Given the description of an element on the screen output the (x, y) to click on. 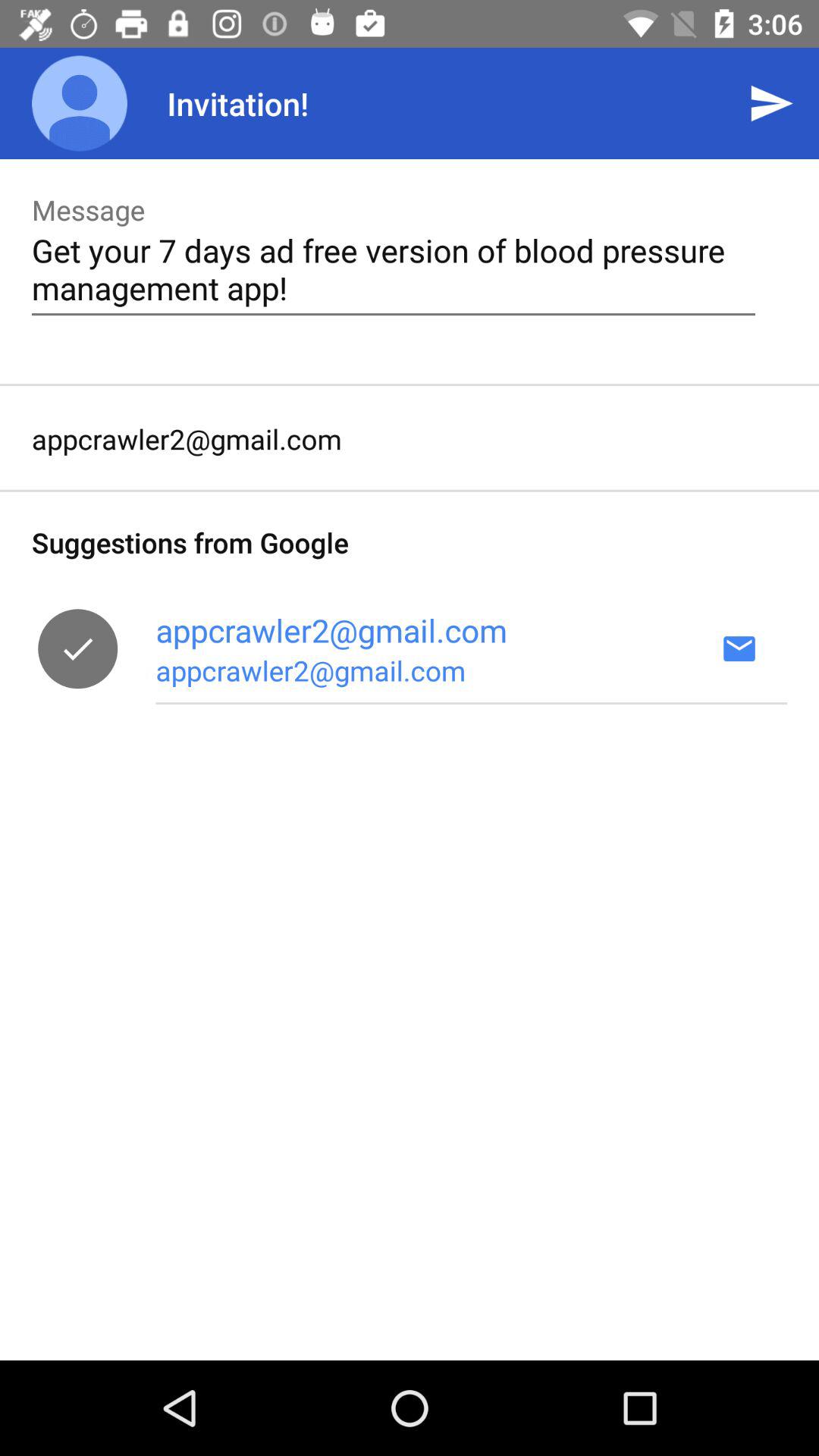
scroll to the get your 7 icon (393, 268)
